Given the description of an element on the screen output the (x, y) to click on. 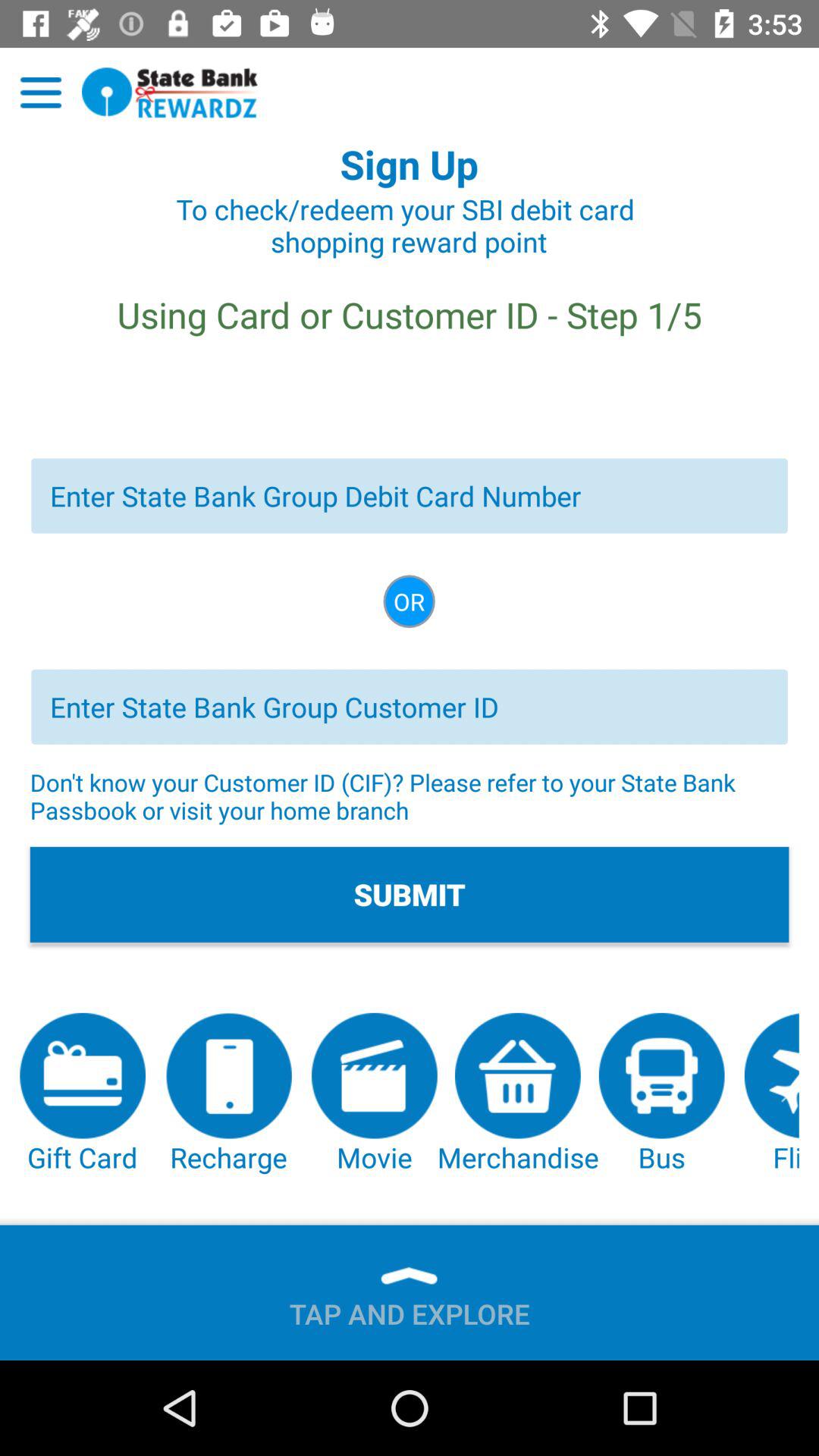
click the button above tap and explore icon (228, 1094)
